Given the description of an element on the screen output the (x, y) to click on. 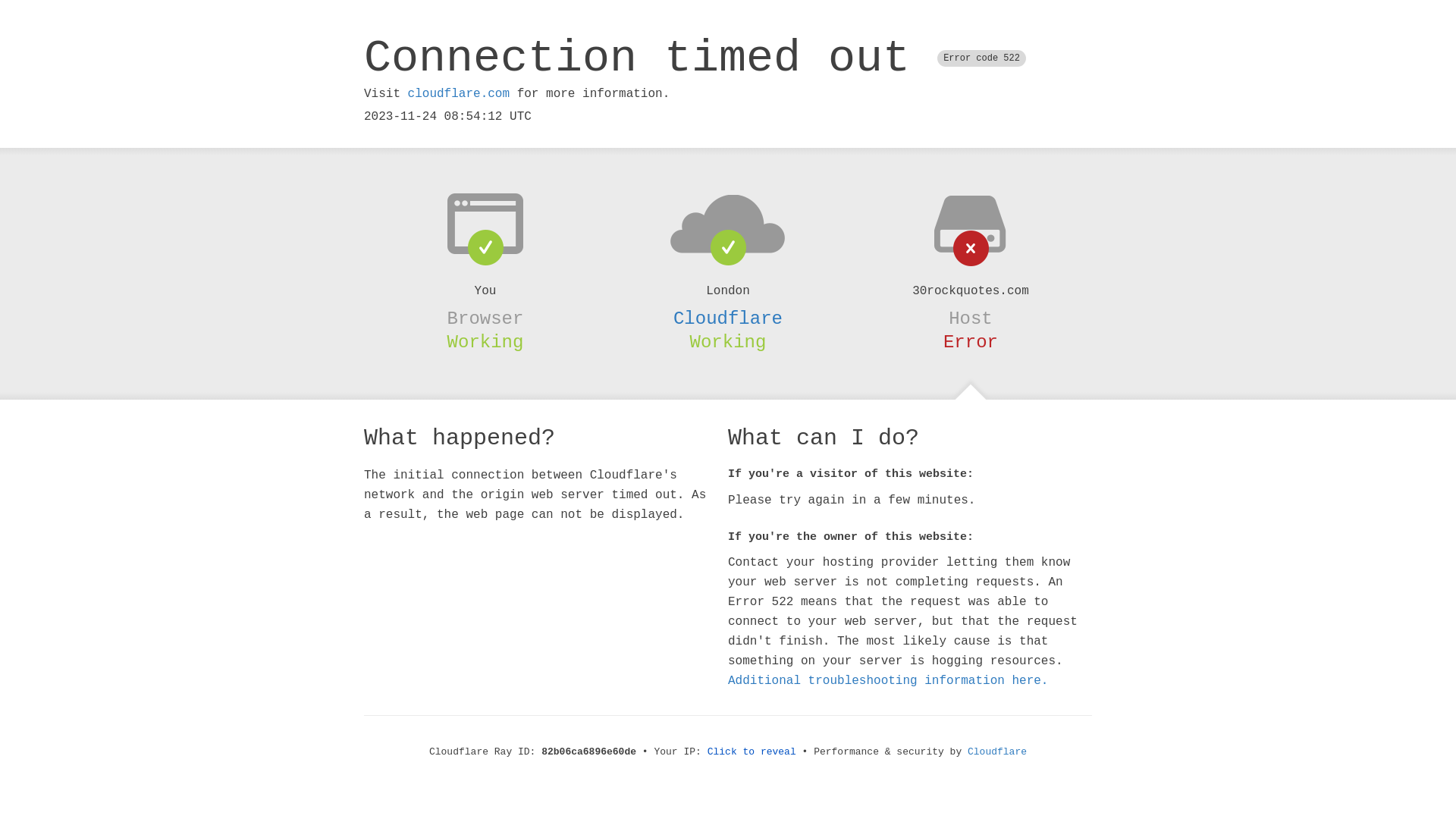
Cloudflare Element type: text (727, 318)
Click to reveal Element type: text (751, 751)
cloudflare.com Element type: text (458, 93)
Cloudflare Element type: text (996, 751)
Additional troubleshooting information here. Element type: text (888, 680)
